Given the description of an element on the screen output the (x, y) to click on. 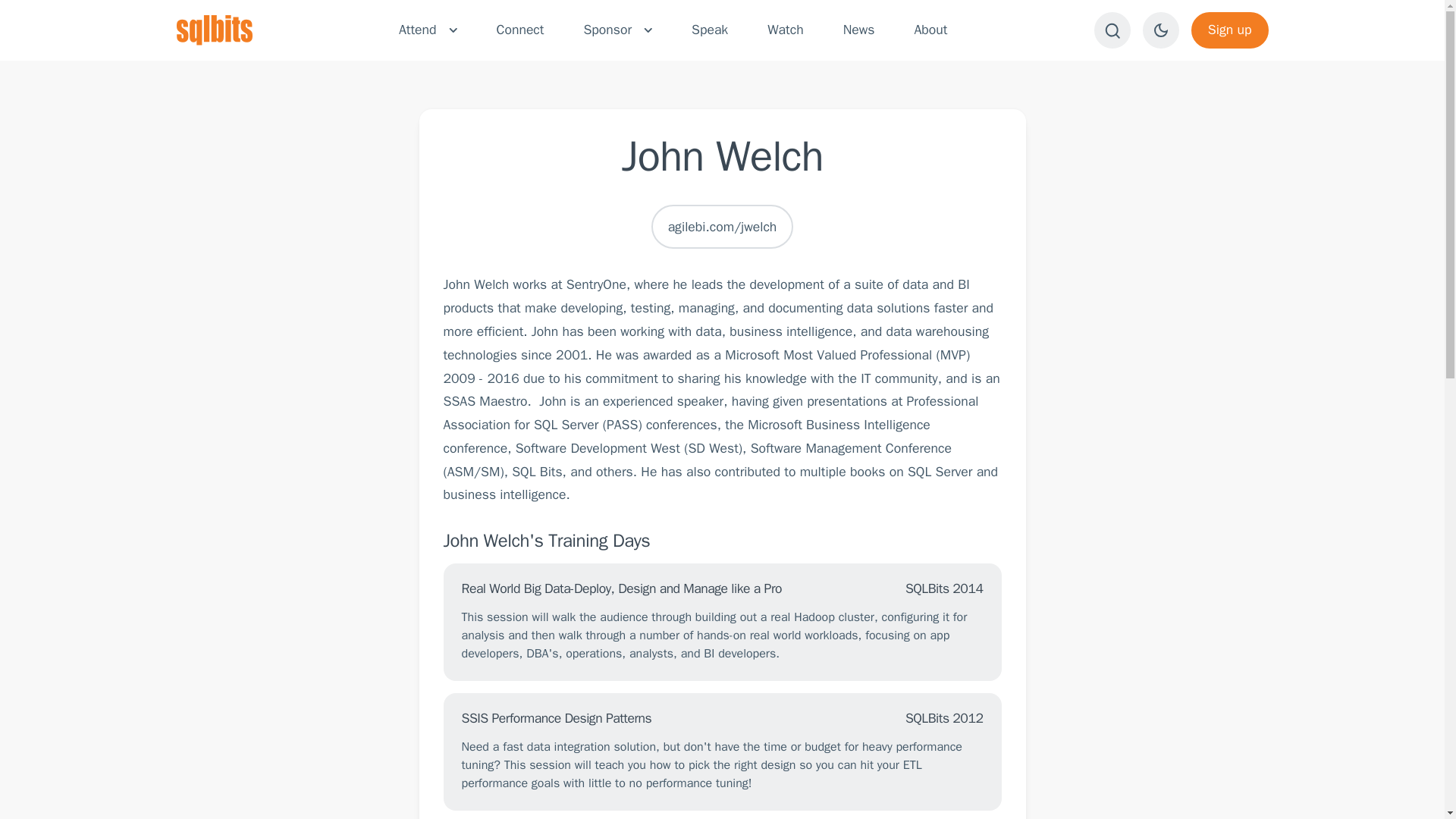
About (929, 30)
Watch (785, 30)
Sign up (1229, 30)
Speak (709, 30)
News (859, 30)
Connect (520, 30)
